Given the description of an element on the screen output the (x, y) to click on. 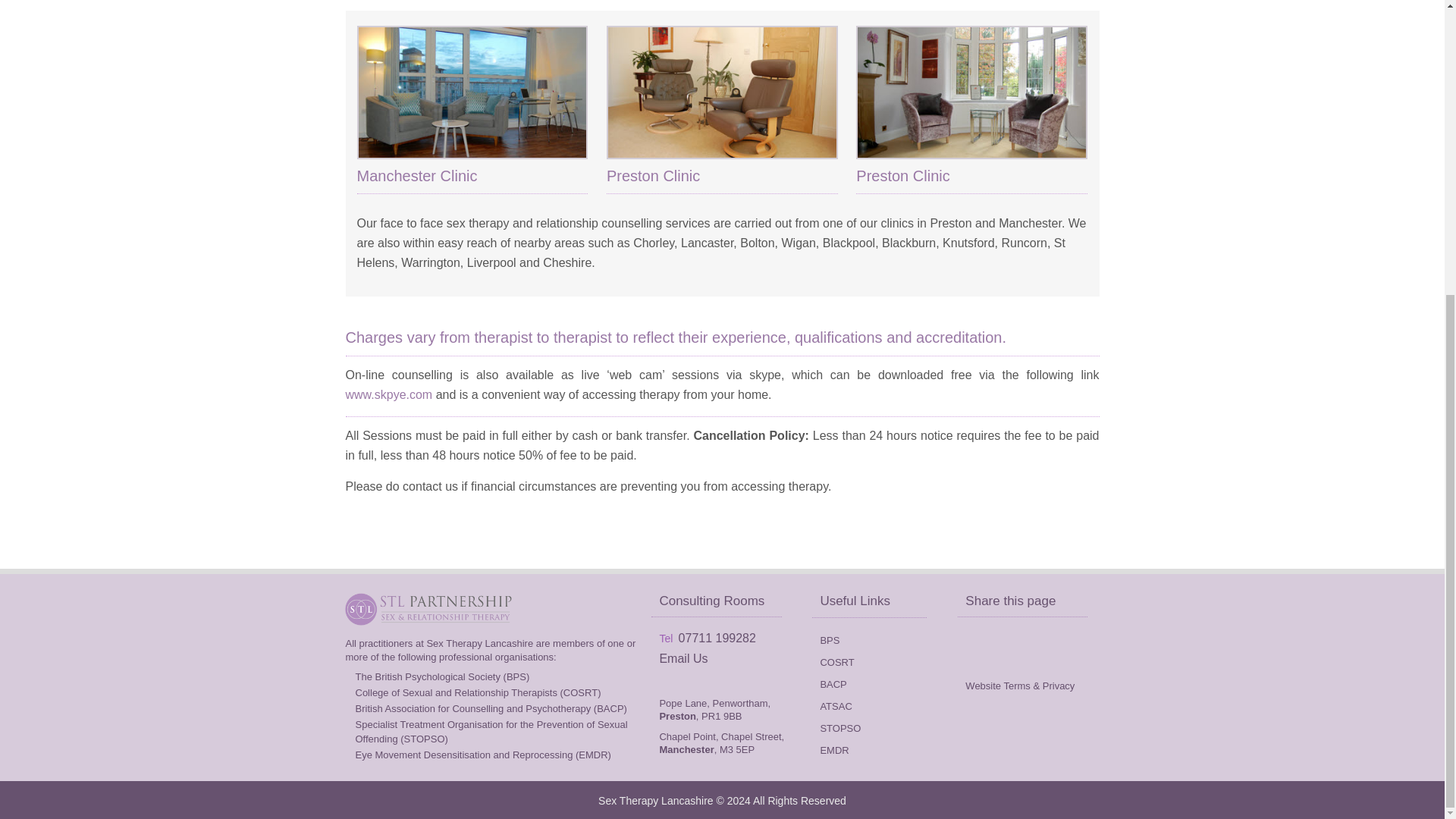
07711 199282 (716, 637)
www.skpye.com (389, 394)
